Given the description of an element on the screen output the (x, y) to click on. 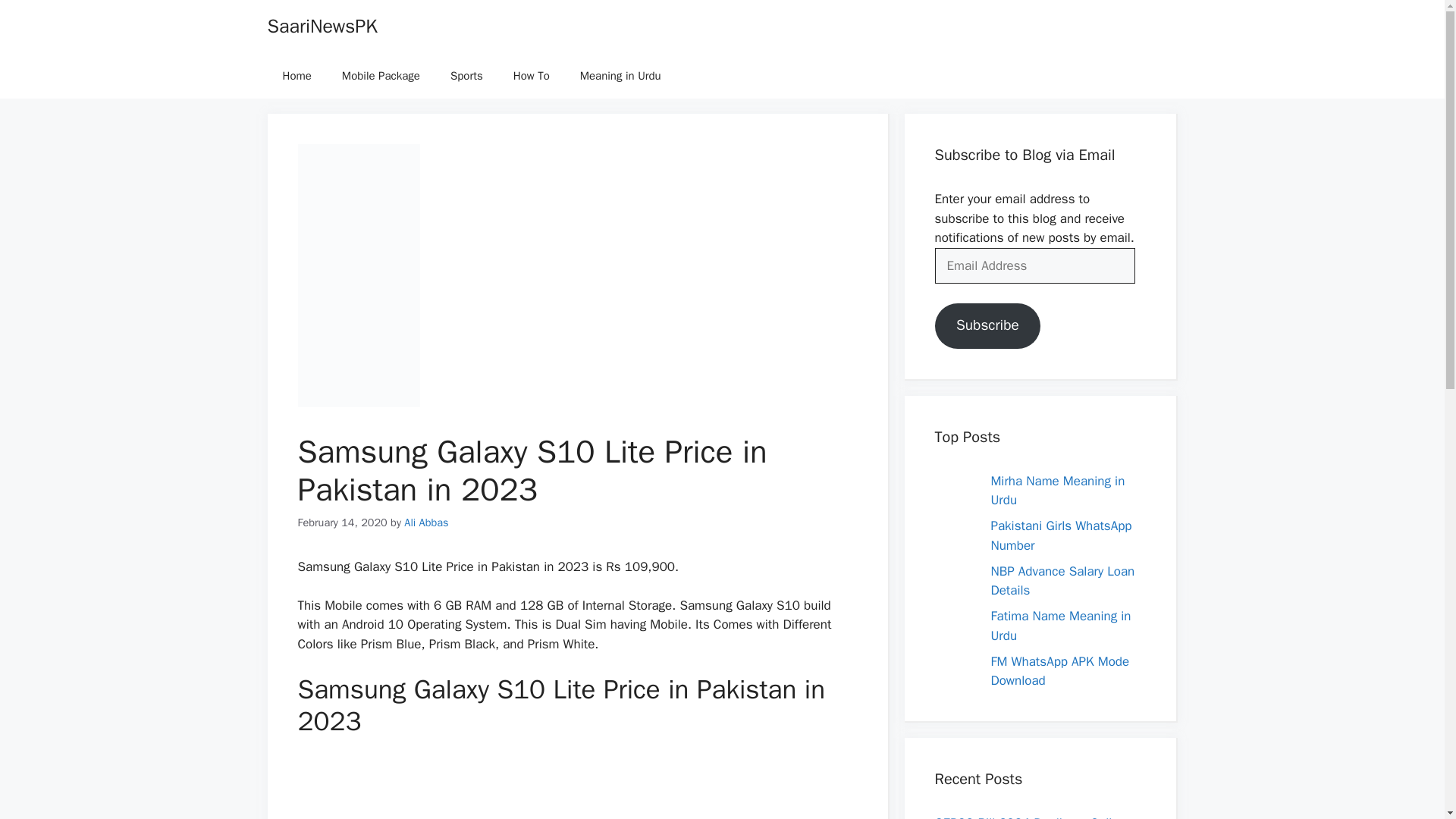
Asad Nimra Leaked Video Scandal After Their Wedding (1062, 582)
Subscribe (987, 325)
Meaning in Urdu (620, 75)
Ali Abbas (426, 522)
How To Check CSS Result (1063, 480)
How To Check CSS Result (1063, 480)
Zong SIM Number Check Code (1059, 637)
Sports (466, 75)
NA4 WhatsApp Download APK Latest (1061, 527)
NBP Advance Salary Loan Details (1062, 682)
